Given the description of an element on the screen output the (x, y) to click on. 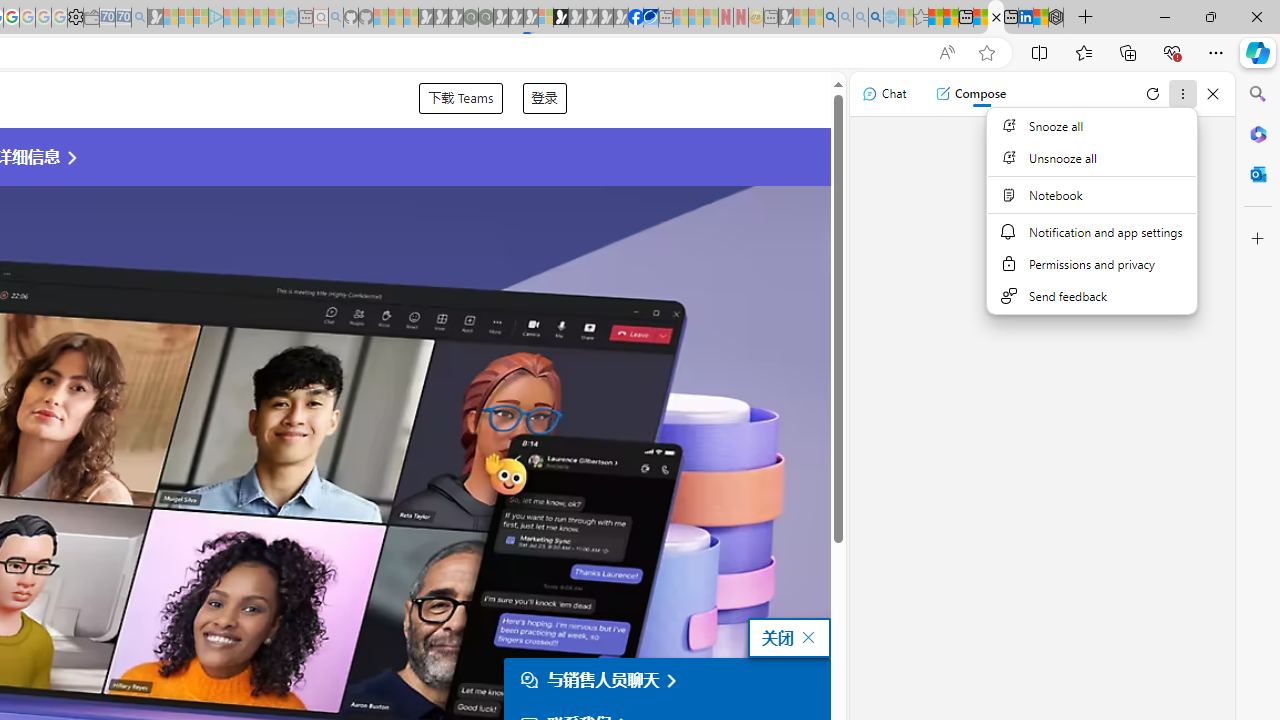
AQI & Health | AirNow.gov (650, 17)
Microsoft Start Gaming - Sleeping (155, 17)
Wallet - Sleeping (91, 17)
Context (1091, 222)
